Given the description of an element on the screen output the (x, y) to click on. 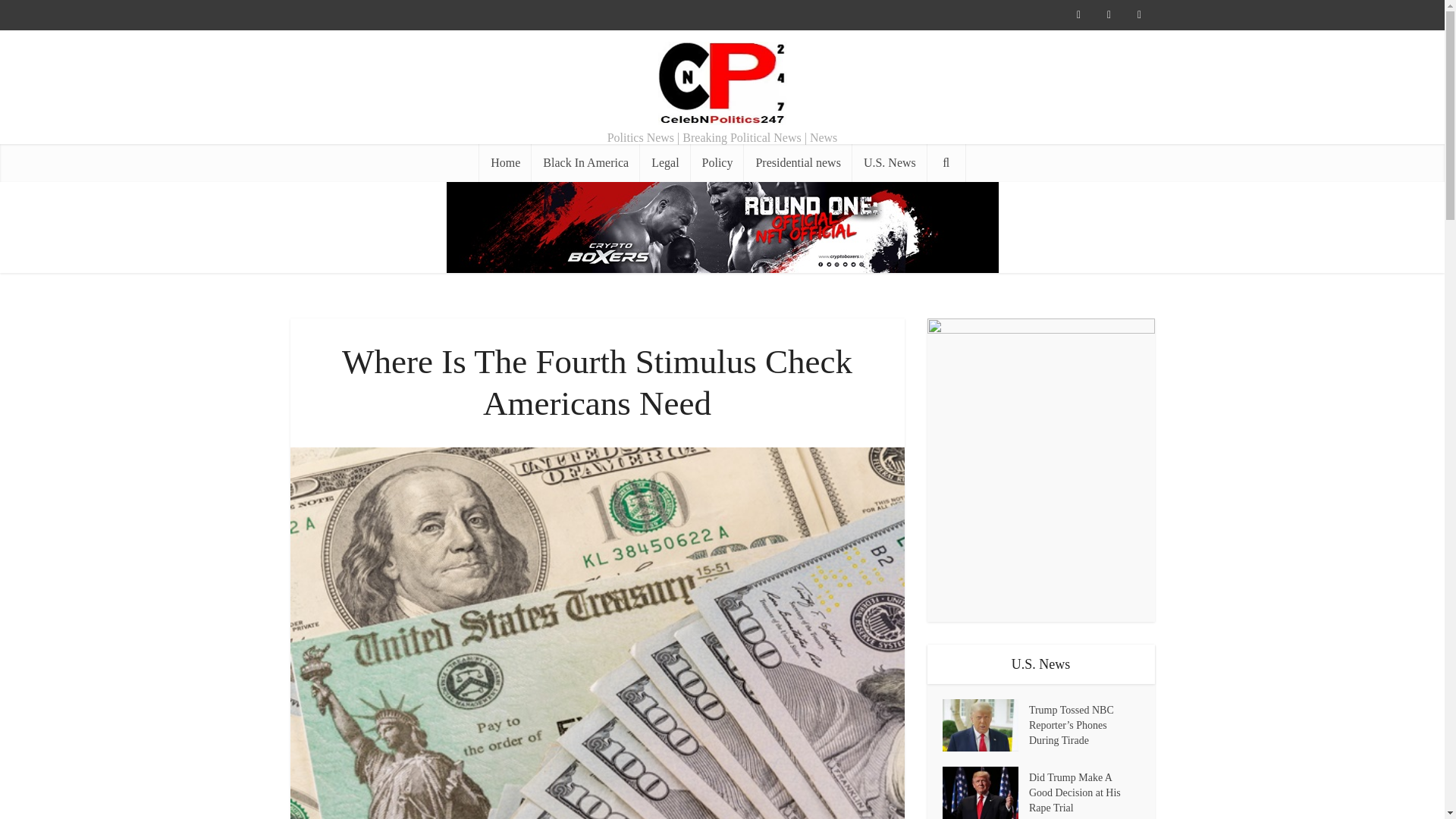
Policy (717, 162)
CelebnPolitics247 (722, 83)
Presidential news (797, 162)
Did Trump Make A Good Decision at His Rape Trial (984, 792)
Home (505, 162)
Did Trump Make A Good Decision at His Rape Trial (1084, 790)
Black In America (585, 162)
Legal (665, 162)
U.S. News (889, 162)
